Given the description of an element on the screen output the (x, y) to click on. 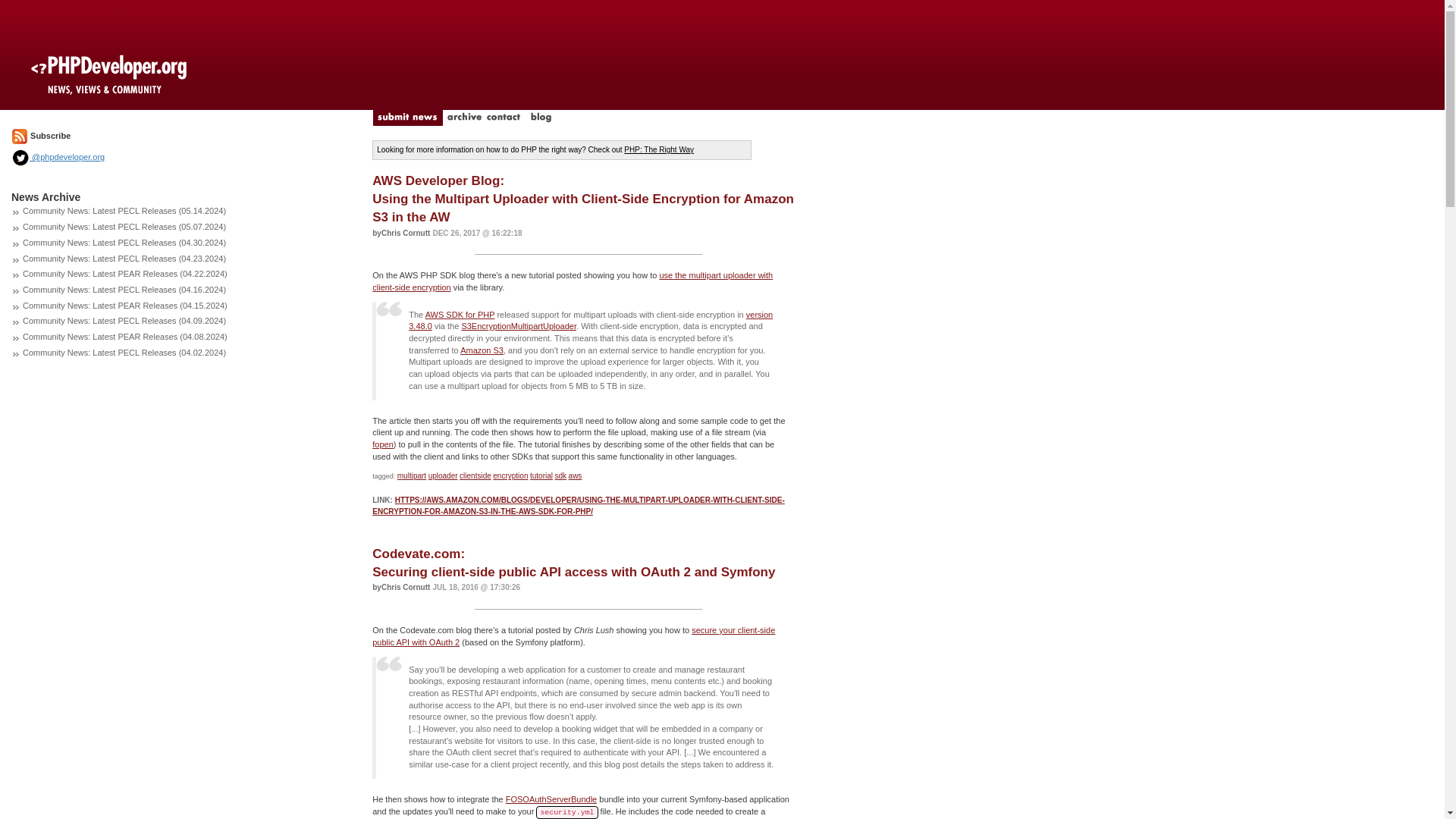
sdk (560, 475)
S3EncryptionMultipartUploader (518, 325)
aws (575, 475)
Amazon S3 (481, 349)
clientside (476, 475)
tutorial (541, 475)
version 3.48.0 (591, 320)
use the multipart uploader with client-side encryption (572, 281)
fopen (382, 443)
PHP: The Right Way (659, 149)
encryption (510, 475)
multipart (411, 475)
uploader (443, 475)
